Given the description of an element on the screen output the (x, y) to click on. 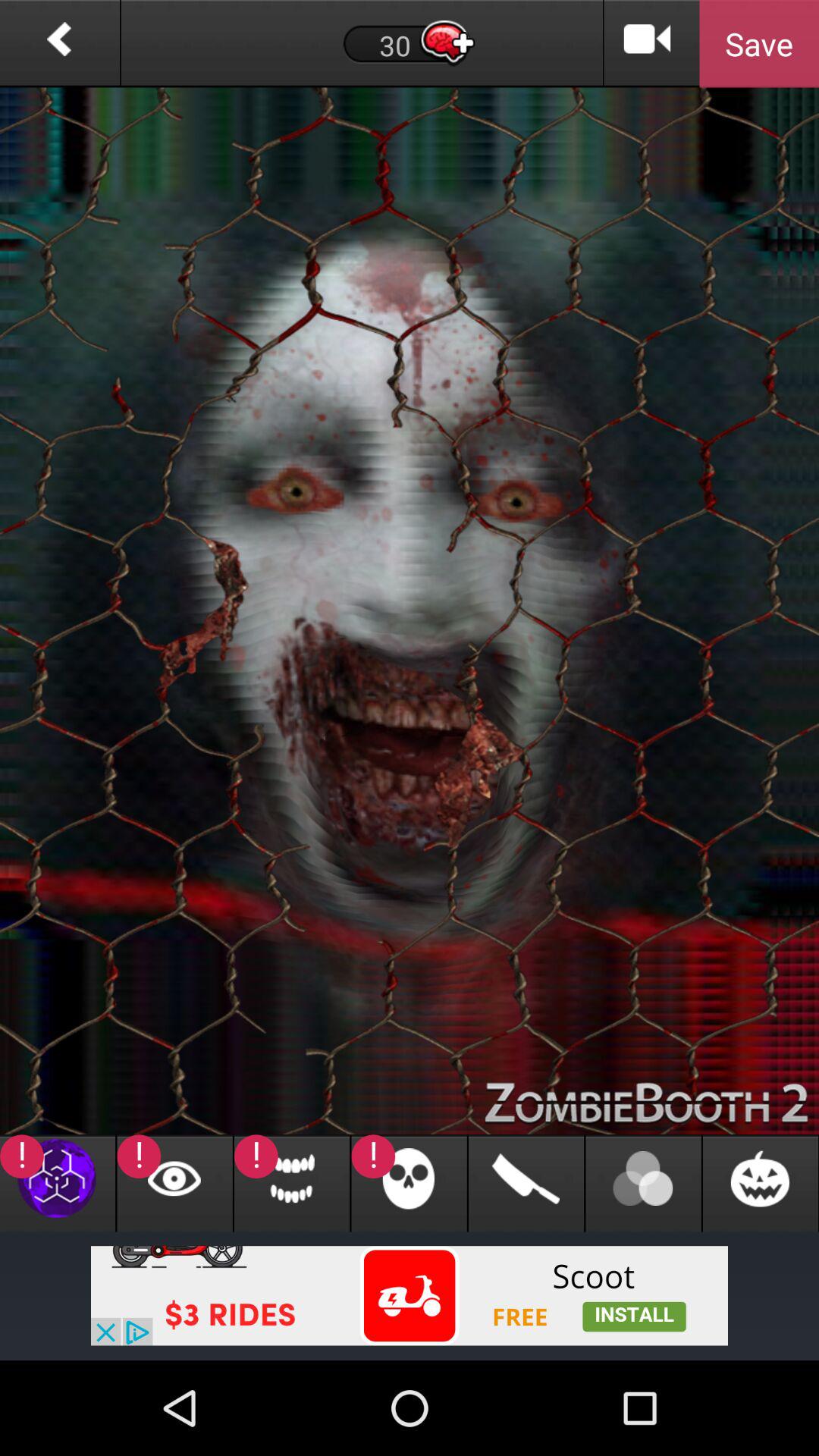
view blink option (174, 1182)
